Given the description of an element on the screen output the (x, y) to click on. 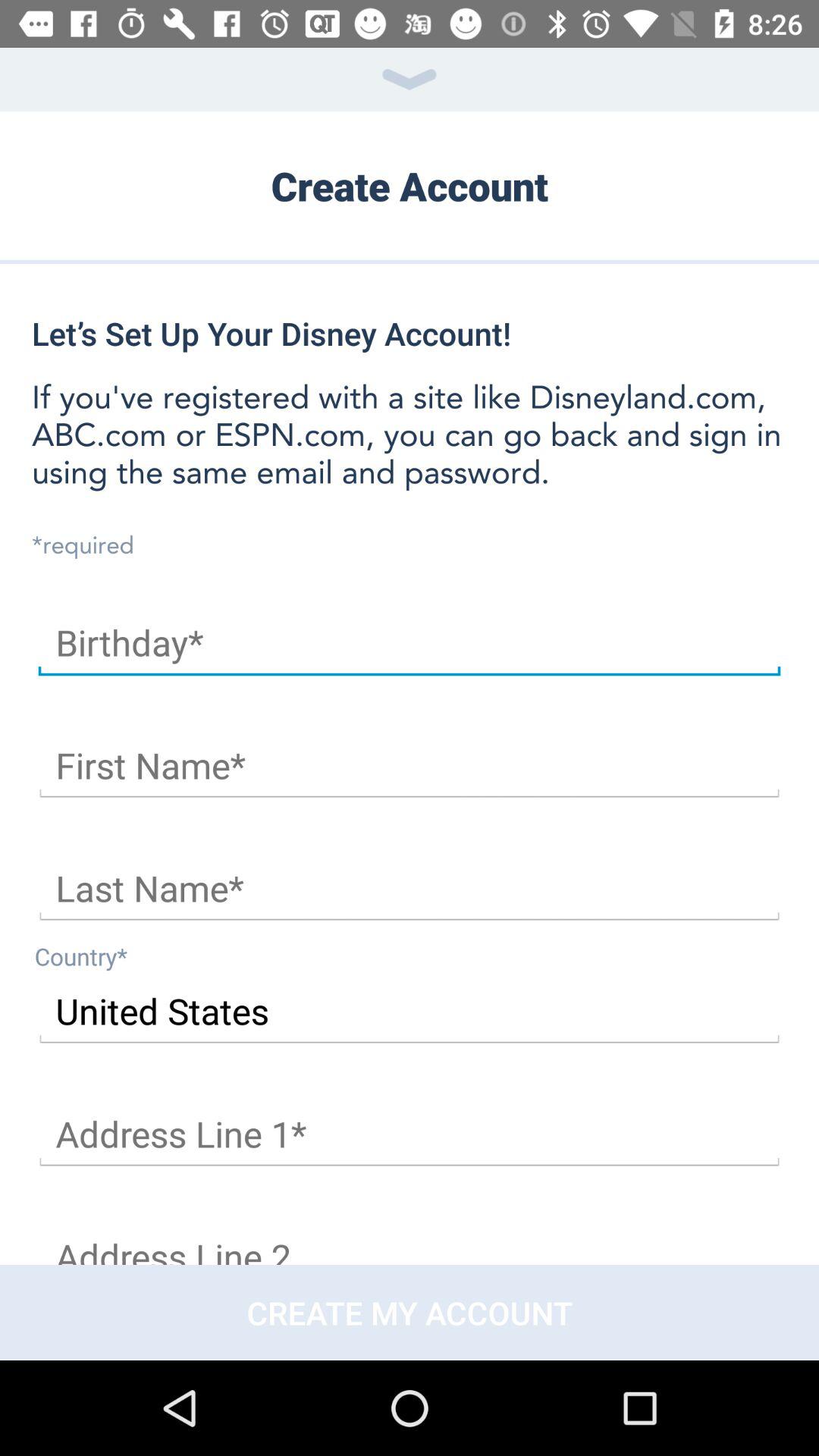
enter your birthday here (409, 643)
